Given the description of an element on the screen output the (x, y) to click on. 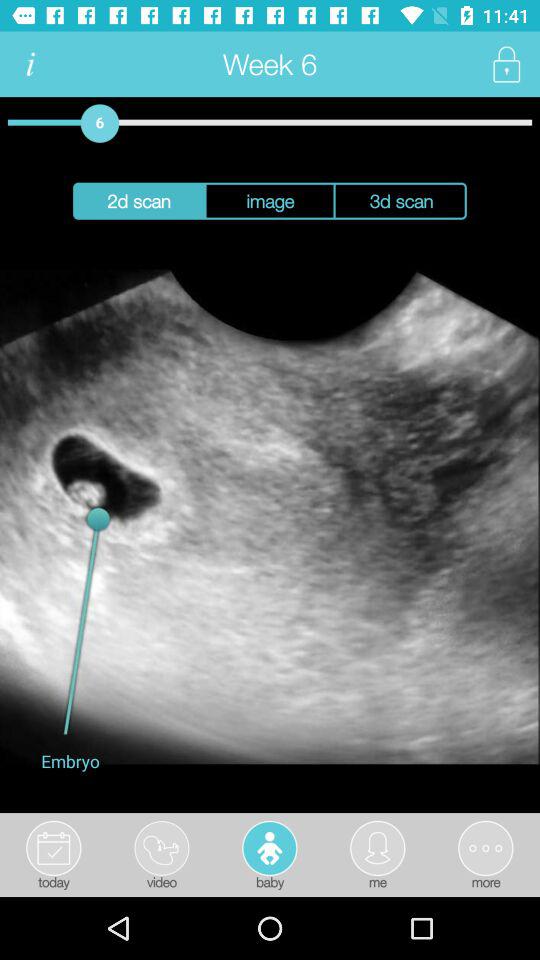
tap button next to the image (400, 200)
